Given the description of an element on the screen output the (x, y) to click on. 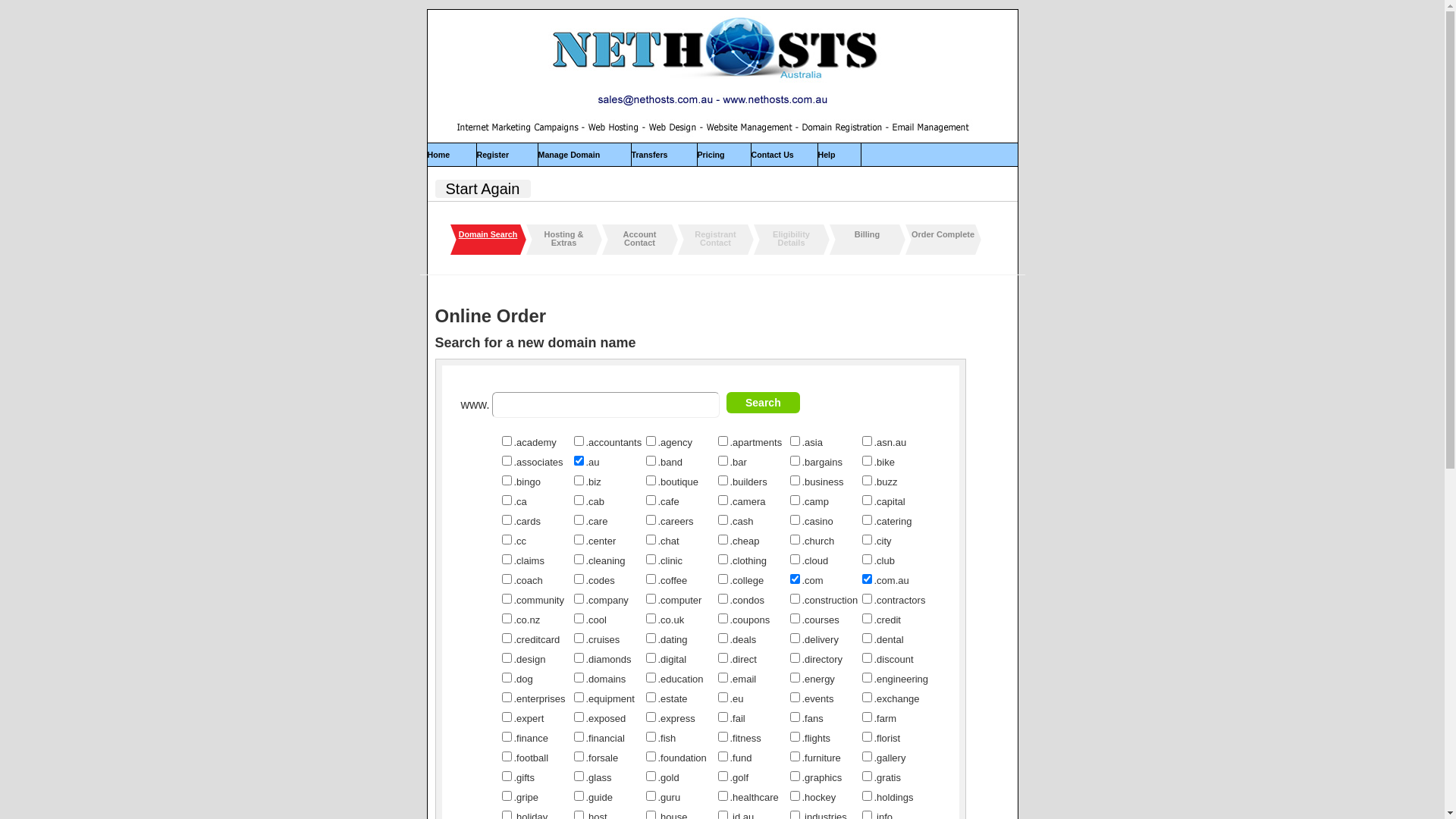
Start Again Element type: text (488, 188)
Search Element type: text (763, 402)
Register Element type: text (492, 154)
Contact Us Element type: text (771, 154)
Manage Domain Element type: text (569, 154)
Pricing Element type: text (710, 154)
Help Element type: text (825, 154)
Domain Search Element type: text (487, 234)
Home Element type: text (438, 154)
Transfers Element type: text (648, 154)
